Given the description of an element on the screen output the (x, y) to click on. 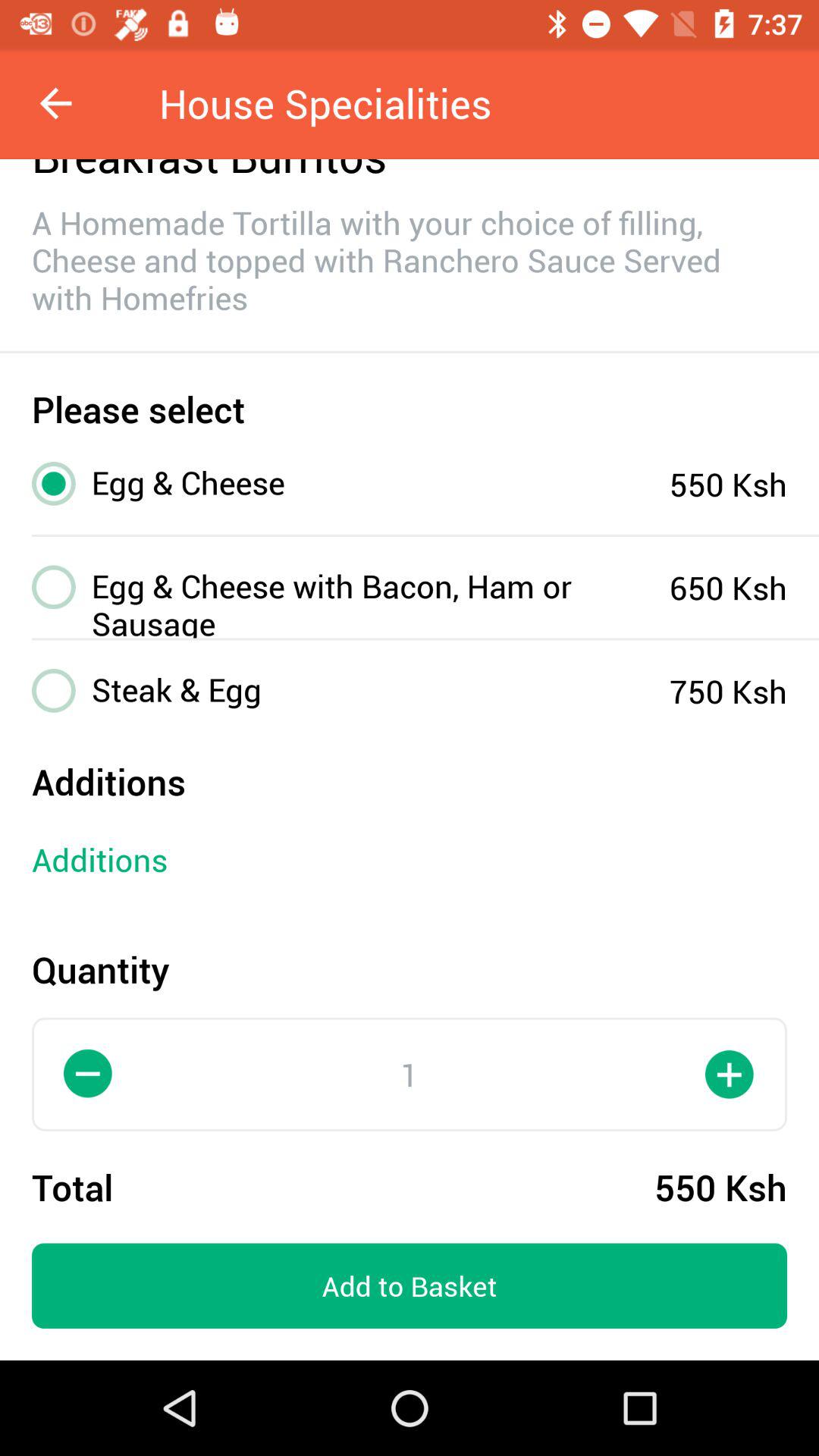
click the item above 550 ksh item (730, 1074)
